Given the description of an element on the screen output the (x, y) to click on. 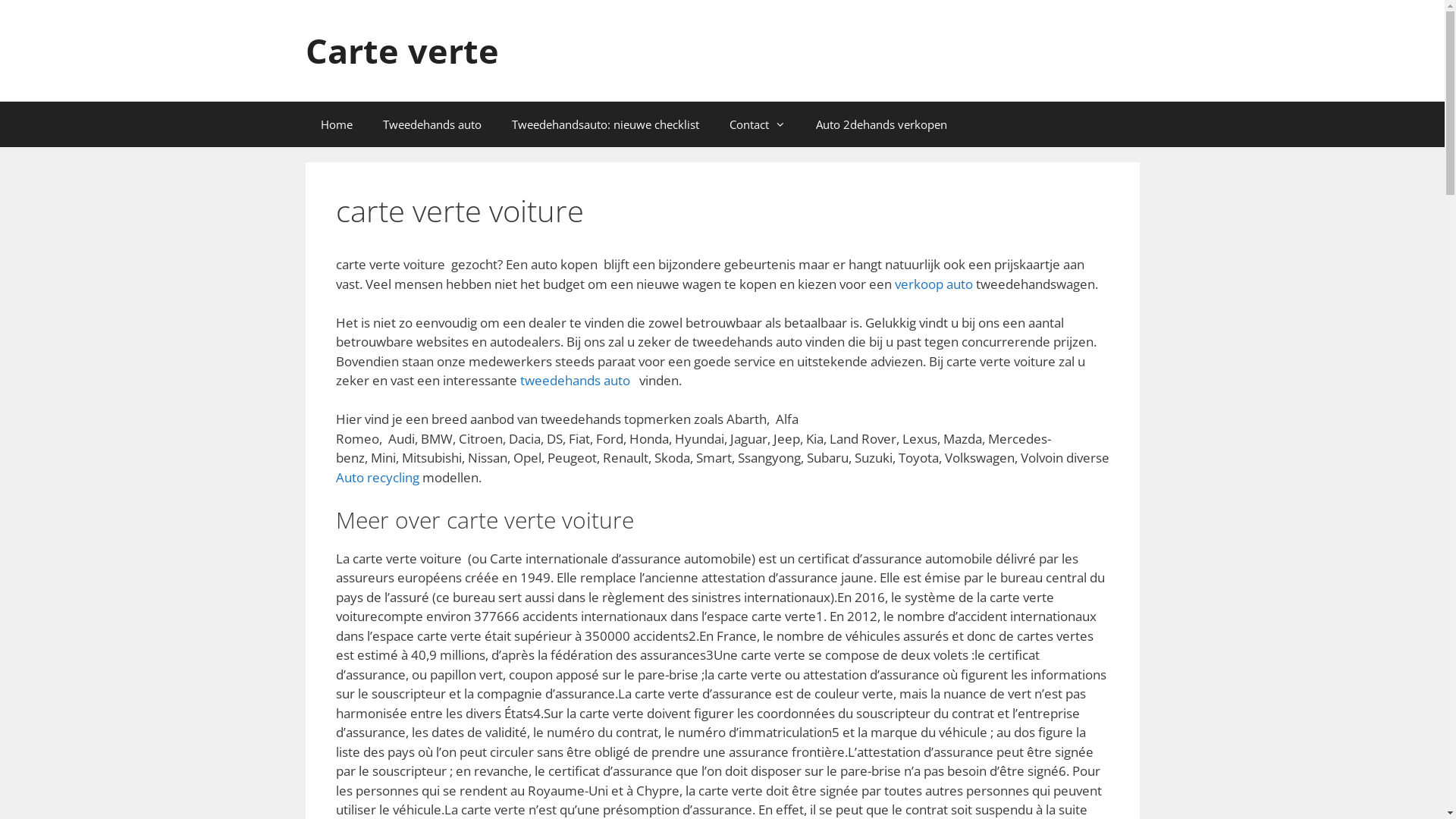
tweedehands auto Element type: text (575, 380)
Home Element type: text (335, 124)
Carte verte Element type: text (401, 50)
Tweedehandsauto: nieuwe checklist Element type: text (604, 124)
Tweedehands auto Element type: text (431, 124)
Auto 2dehands verkopen Element type: text (881, 124)
Contact Element type: text (757, 124)
Auto recycling Element type: text (376, 477)
verkoop auto Element type: text (933, 282)
